Given the description of an element on the screen output the (x, y) to click on. 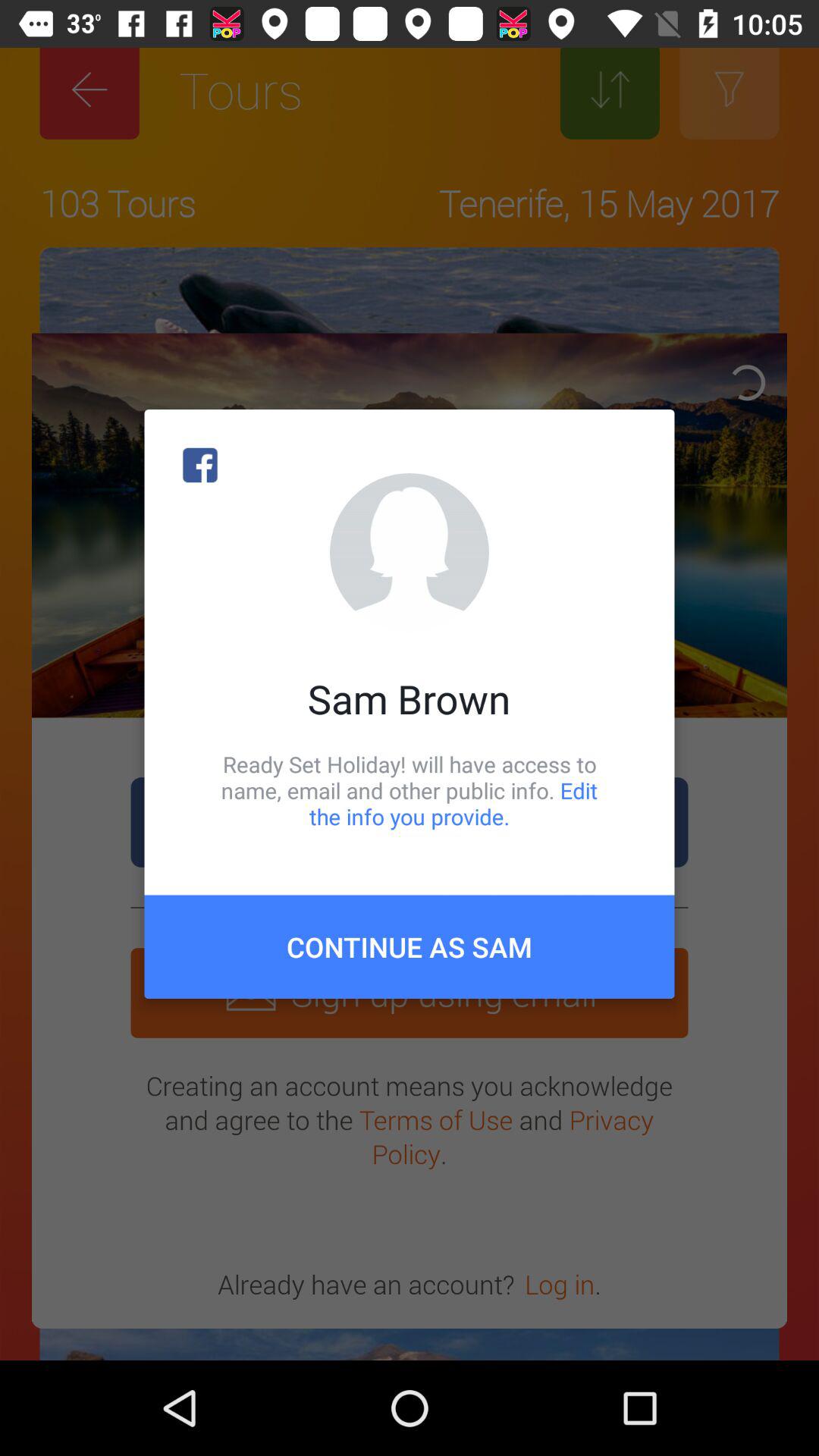
press the item below the ready set holiday item (409, 946)
